Given the description of an element on the screen output the (x, y) to click on. 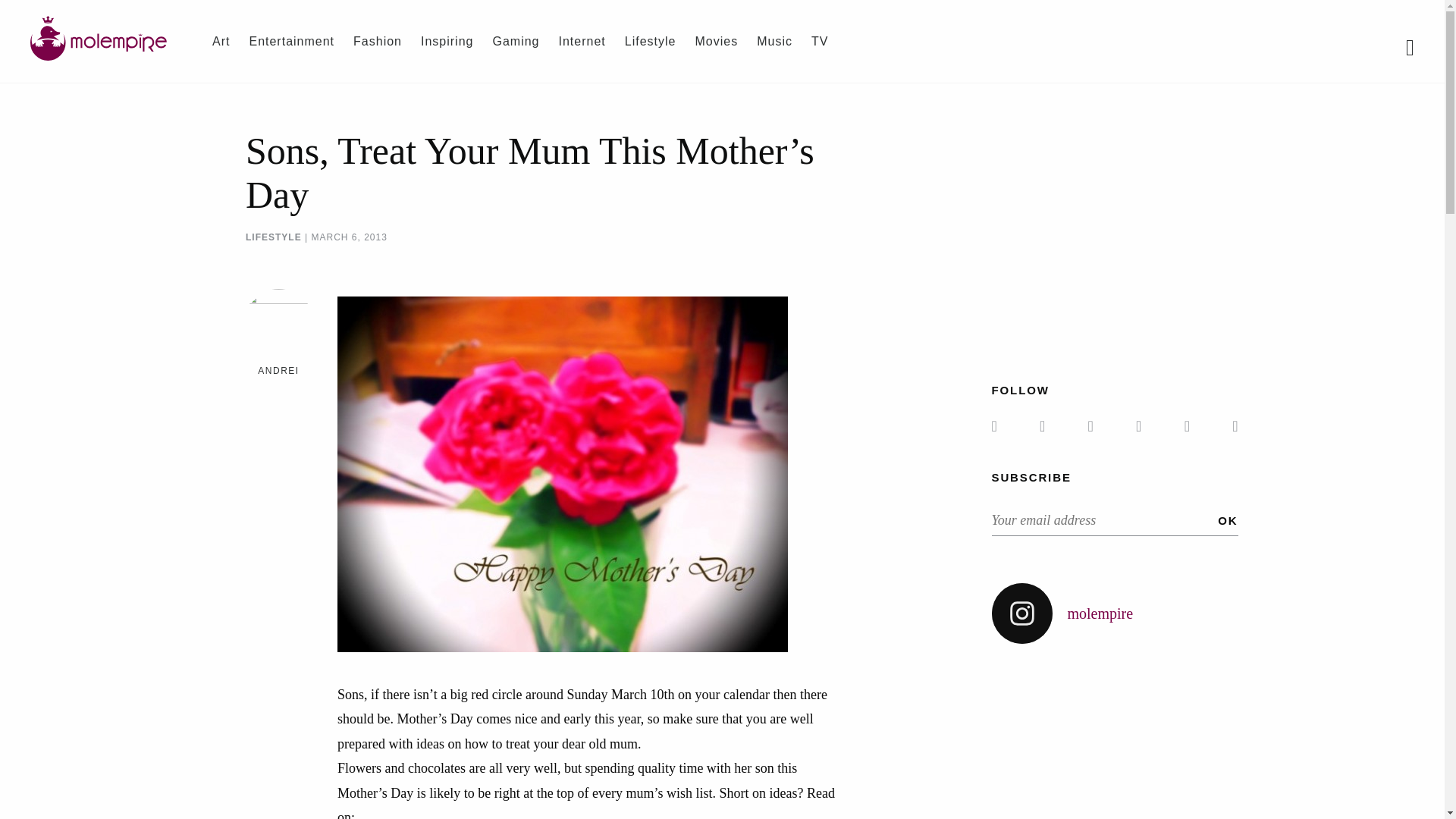
Search (7, 7)
Inspiring (446, 41)
Music (774, 41)
Movies (716, 41)
TV (819, 41)
ANDREI (277, 370)
Entertainment (291, 41)
Advertisement (1118, 234)
Fashion (377, 41)
Gaming (515, 41)
